Given the description of an element on the screen output the (x, y) to click on. 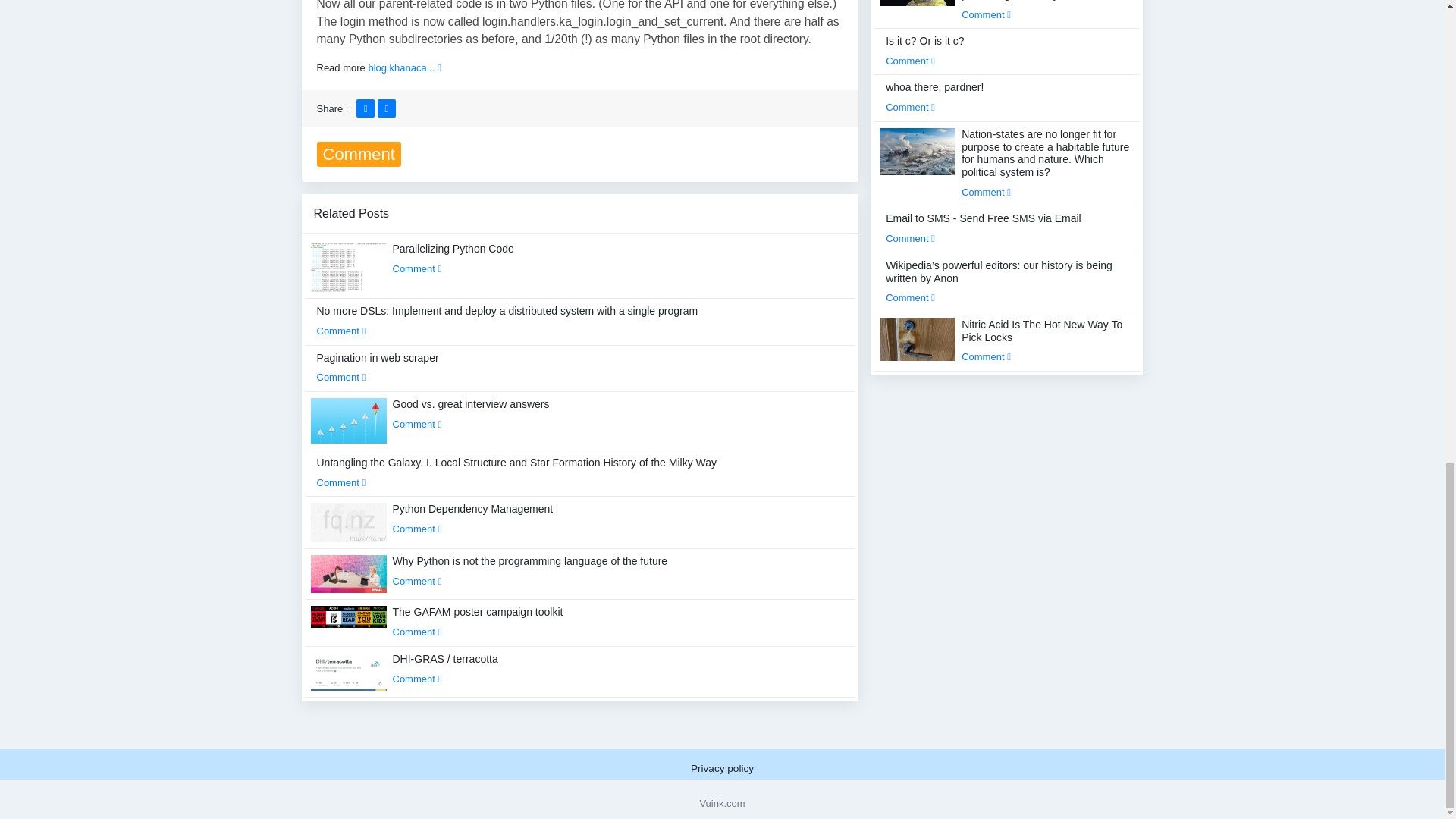
Comment (417, 581)
Comment (417, 268)
Comment (341, 377)
Pagination in web scraper (378, 368)
Comment (341, 482)
Comment (417, 528)
Python Dependency Management (473, 518)
Why Python is not the programming language of the future (530, 571)
Parallelizing Python Code (453, 258)
Good vs. great interview answers (471, 413)
blog.khanaca... (404, 67)
Comment (417, 423)
Comment (341, 330)
